Given the description of an element on the screen output the (x, y) to click on. 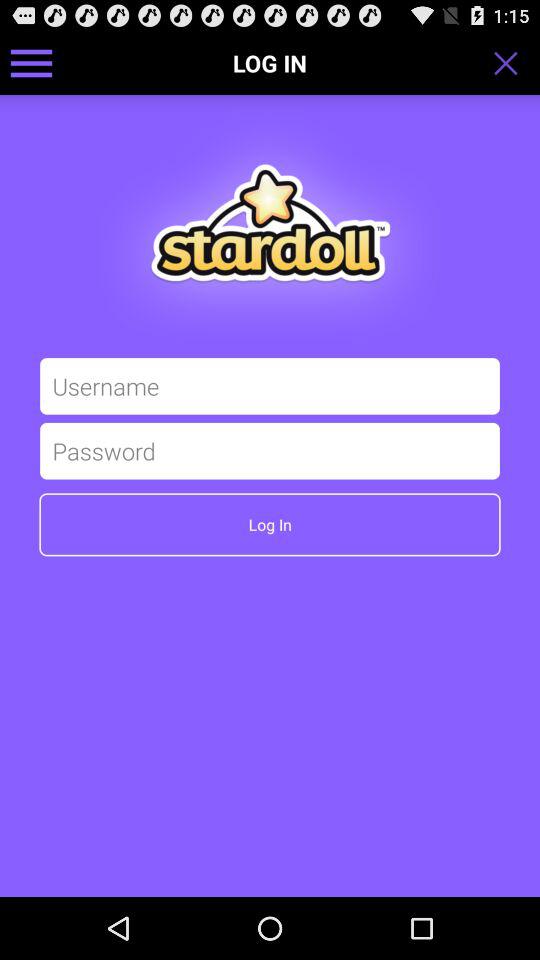
close app (512, 63)
